Given the description of an element on the screen output the (x, y) to click on. 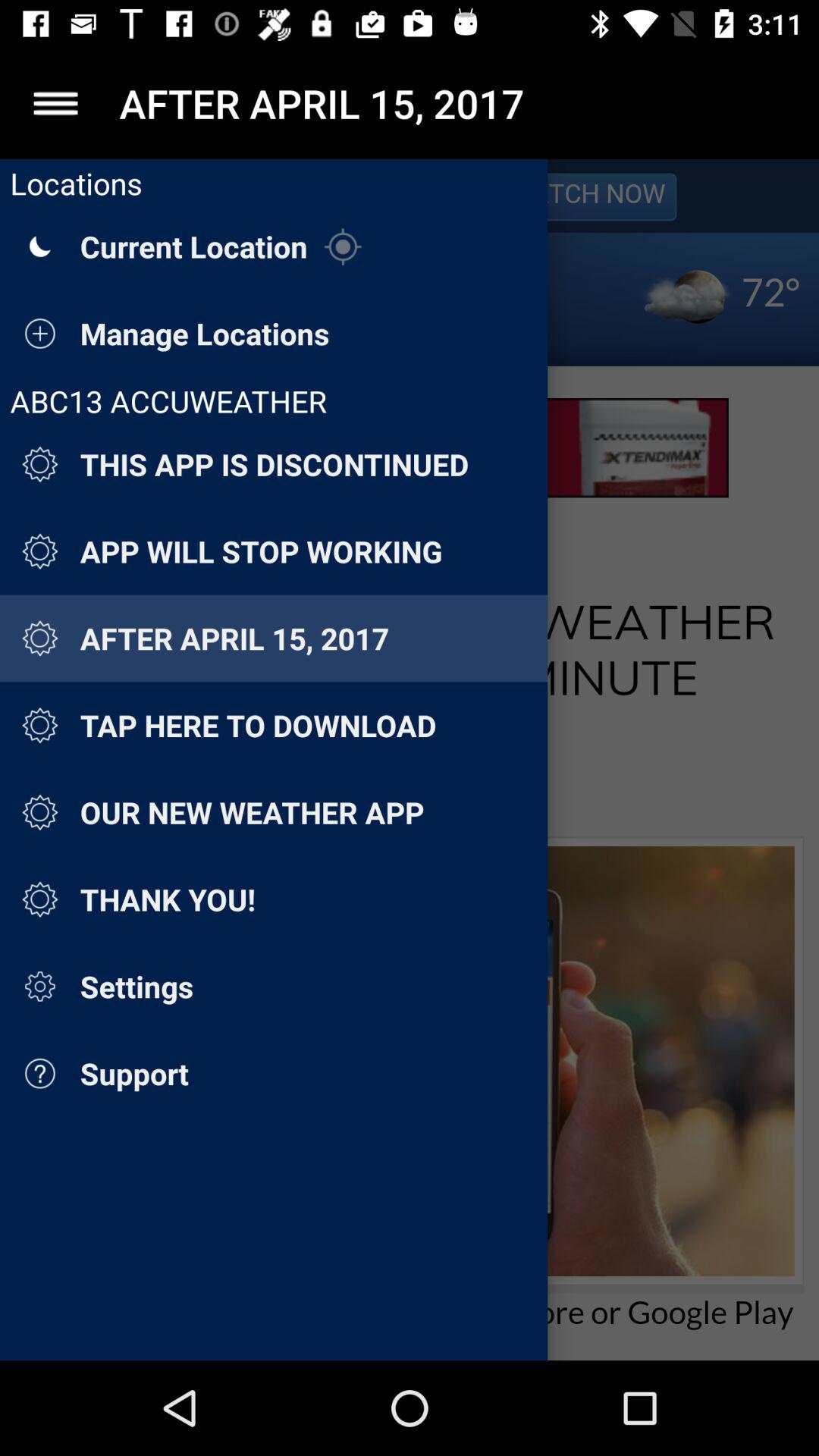
press the icon to the left of after april 15 app (55, 103)
